Given the description of an element on the screen output the (x, y) to click on. 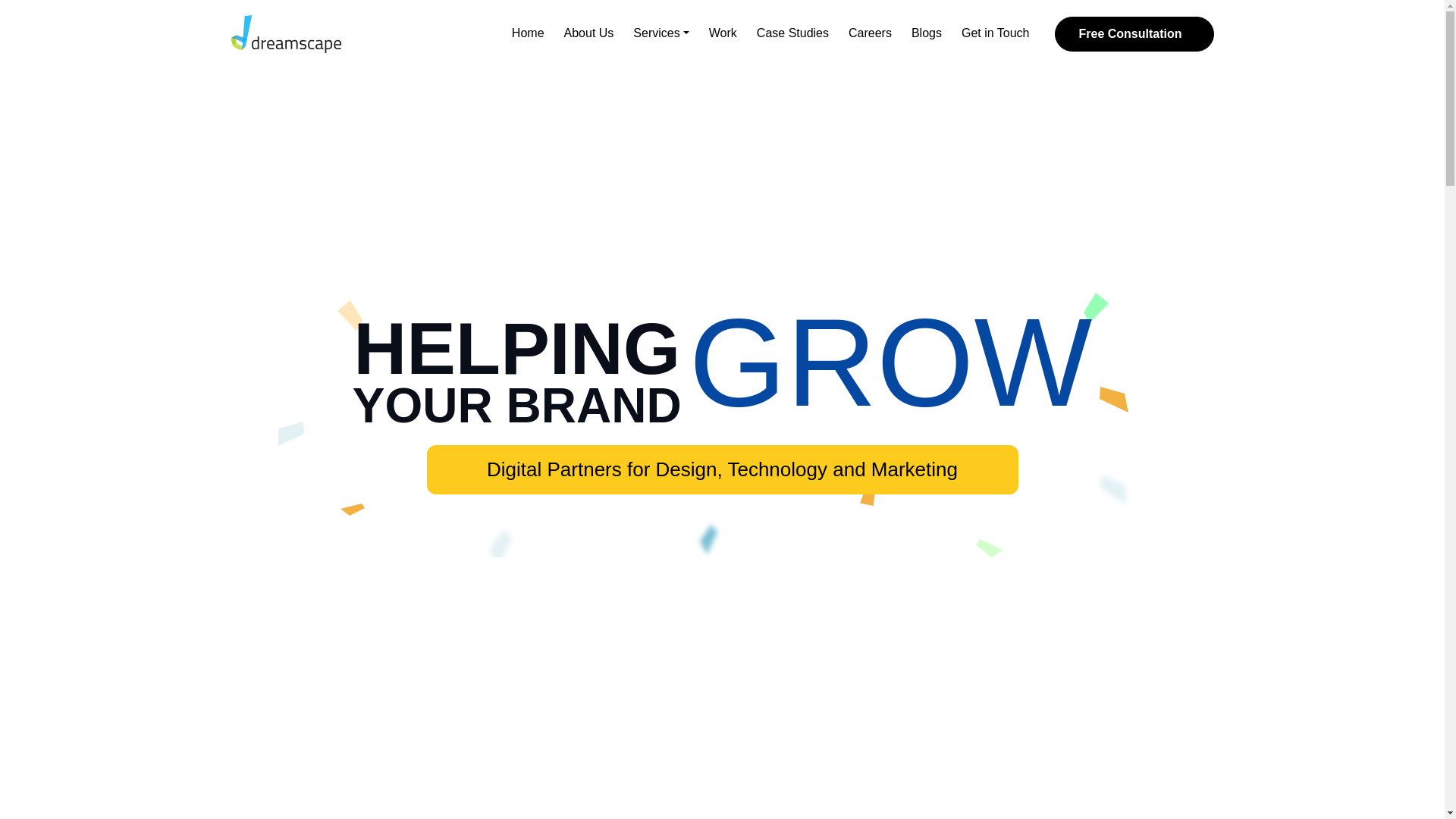
Careers (869, 33)
About Us (589, 33)
Get in Touch (995, 33)
Services (660, 33)
Case Studies (792, 33)
Dreamscape (285, 34)
Free Consultation (1133, 33)
